Given the description of an element on the screen output the (x, y) to click on. 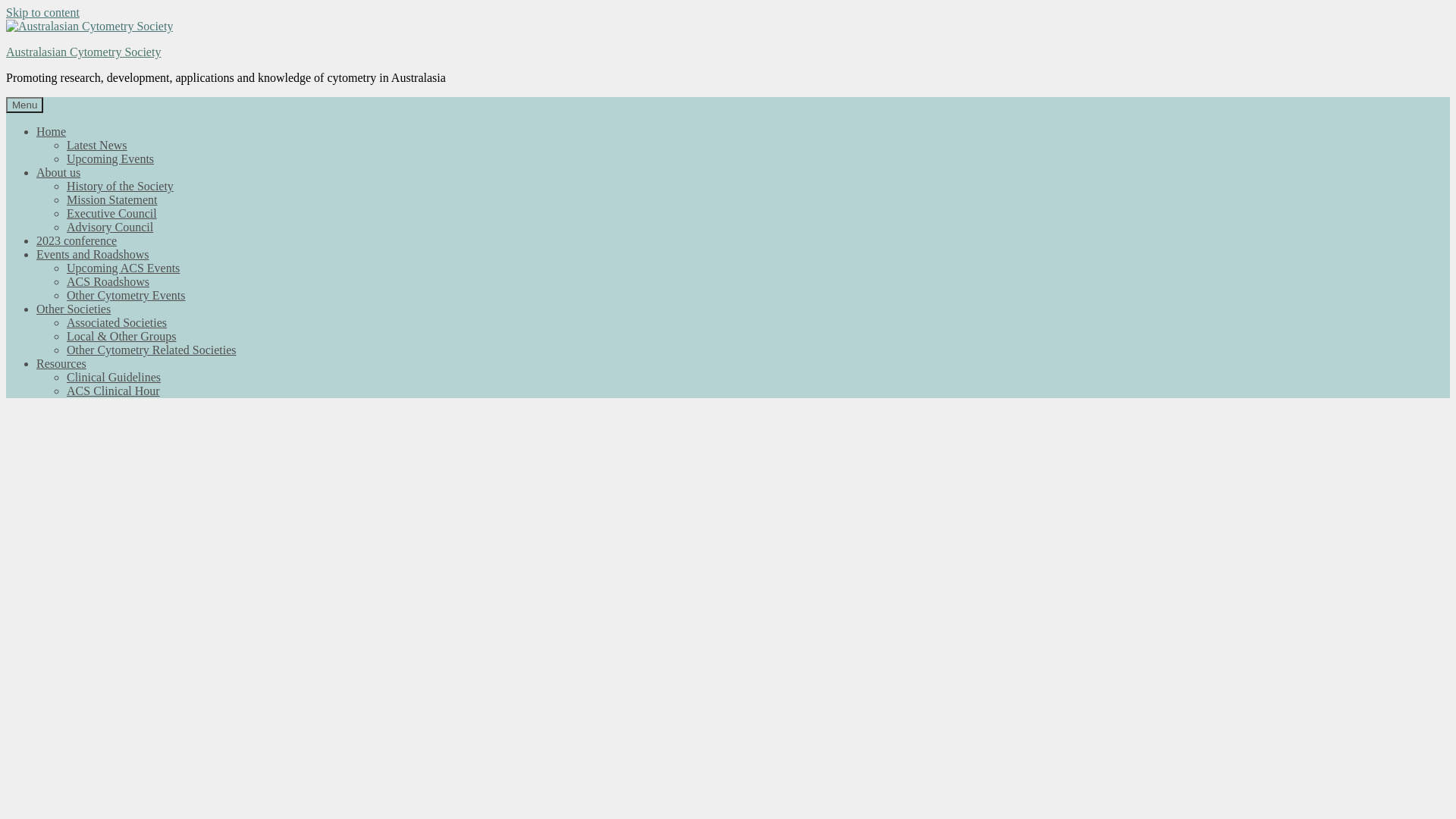
About us Element type: text (58, 172)
ACS Clinical Hour Element type: text (113, 390)
ACS Roadshows Element type: text (107, 281)
Executive Council Element type: text (111, 213)
Upcoming ACS Events Element type: text (122, 267)
Resources Element type: text (61, 363)
Advisory Council Element type: text (109, 226)
Other Cytometry Events Element type: text (125, 294)
Events and Roadshows Element type: text (92, 253)
Upcoming Events Element type: text (109, 158)
Australasian Cytometry Society Element type: text (83, 51)
2023 conference Element type: text (76, 240)
Mission Statement Element type: text (111, 199)
Skip to content Element type: text (42, 12)
Menu Element type: text (24, 104)
Associated Societies Element type: text (116, 322)
Other Cytometry Related Societies Element type: text (151, 349)
Other Societies Element type: text (73, 308)
Latest News Element type: text (96, 144)
Home Element type: text (50, 131)
Clinical Guidelines Element type: text (113, 376)
History of the Society Element type: text (119, 185)
Local & Other Groups Element type: text (120, 335)
